Given the description of an element on the screen output the (x, y) to click on. 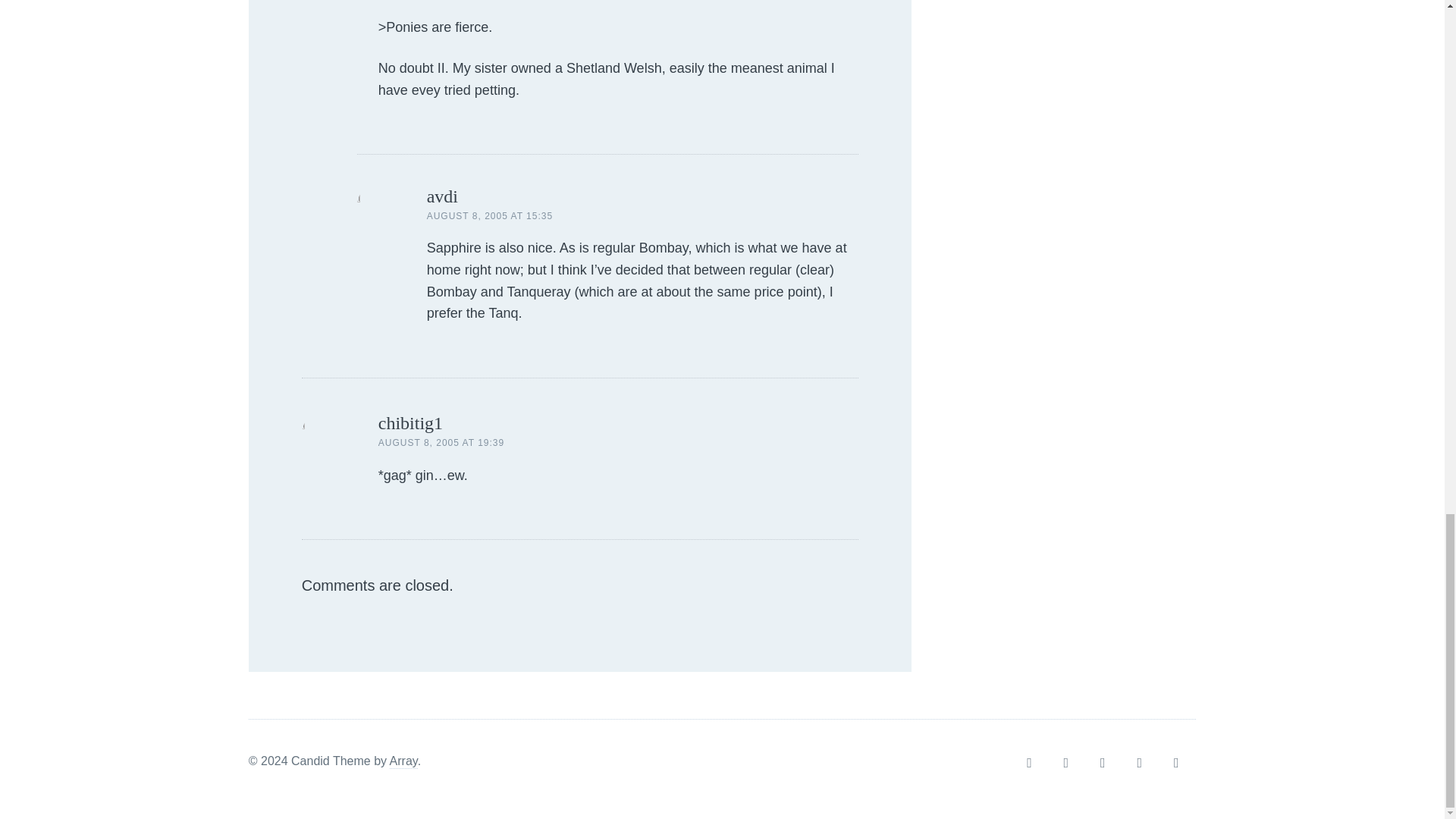
avdi (442, 196)
Array (403, 761)
chibitig1 (410, 423)
AUGUST 8, 2005 AT 19:39 (440, 442)
AUGUST 8, 2005 AT 15:35 (489, 215)
